Given the description of an element on the screen output the (x, y) to click on. 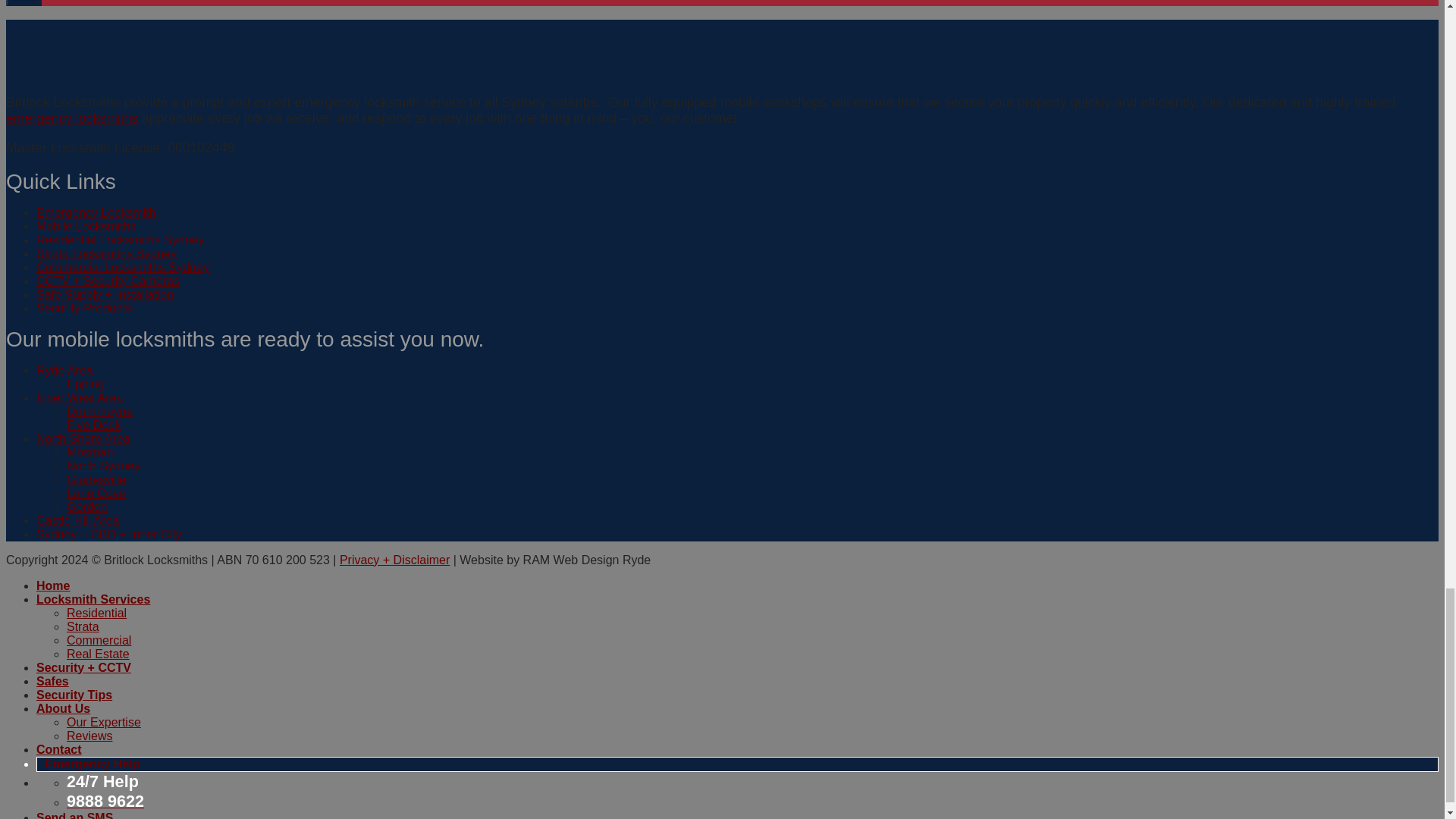
Emergency Locksmith (95, 212)
Residential Locksmiths Sydney (119, 239)
Mobile Locksmiths (86, 226)
9888 9622 (105, 802)
Commercial Locksmiths Sydney (122, 267)
Send (23, 2)
emergency locksmiths (71, 118)
Strata Locksmiths Sydney (106, 253)
Send (23, 2)
